Given the description of an element on the screen output the (x, y) to click on. 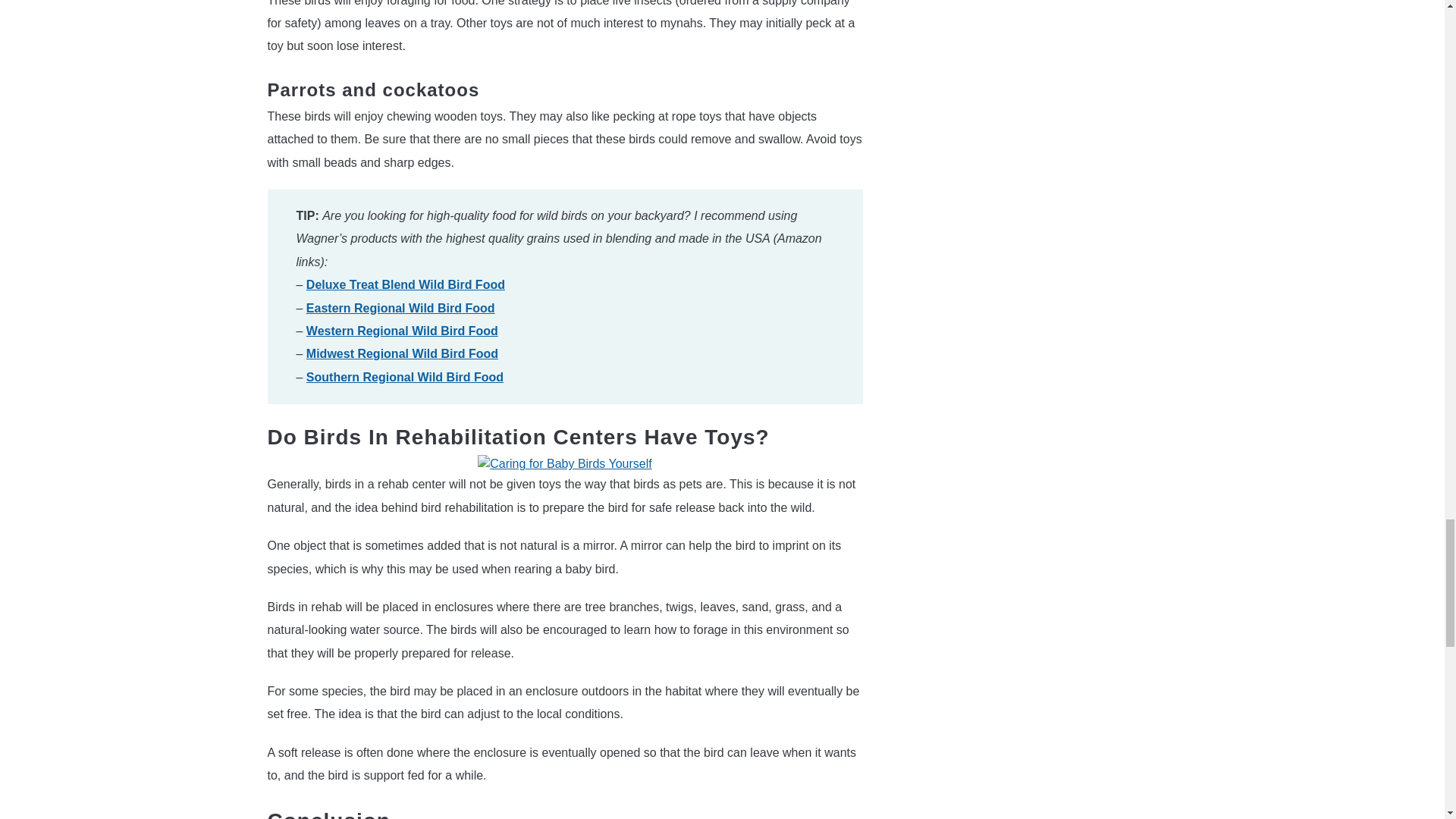
Deluxe Treat Blend Wild Bird Food (405, 284)
Eastern Regional Wild Bird Food (400, 308)
Western Regional Wild Bird Food (401, 330)
Southern Regional Wild Bird Food (404, 377)
Midwest Regional Wild Bird Food (401, 353)
